Given the description of an element on the screen output the (x, y) to click on. 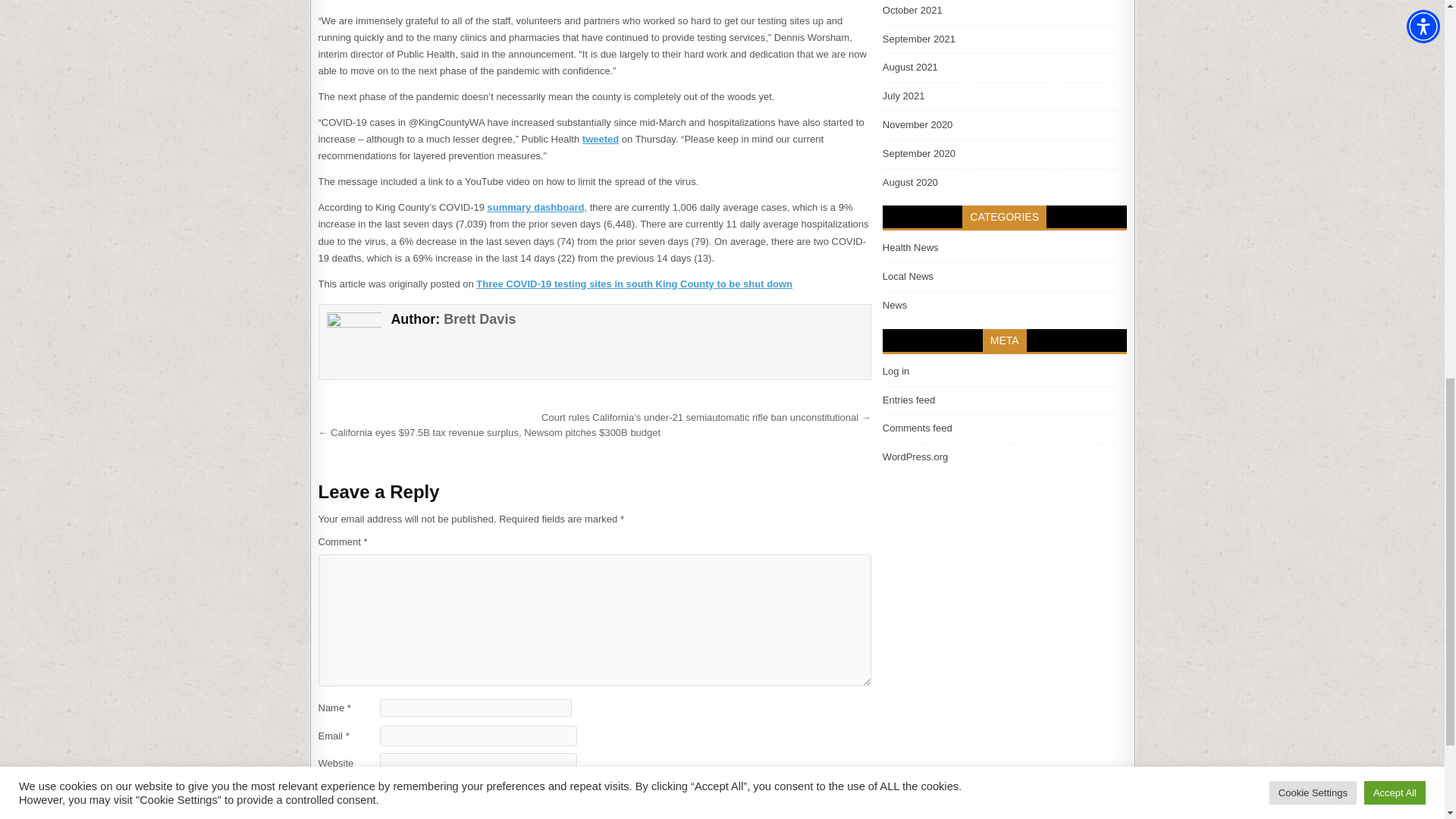
tweeted (600, 138)
Brett Davis (479, 319)
yes (323, 786)
Post Comment (357, 811)
October 2021 (912, 9)
Post Comment (357, 811)
summary dashboard (536, 206)
